Given the description of an element on the screen output the (x, y) to click on. 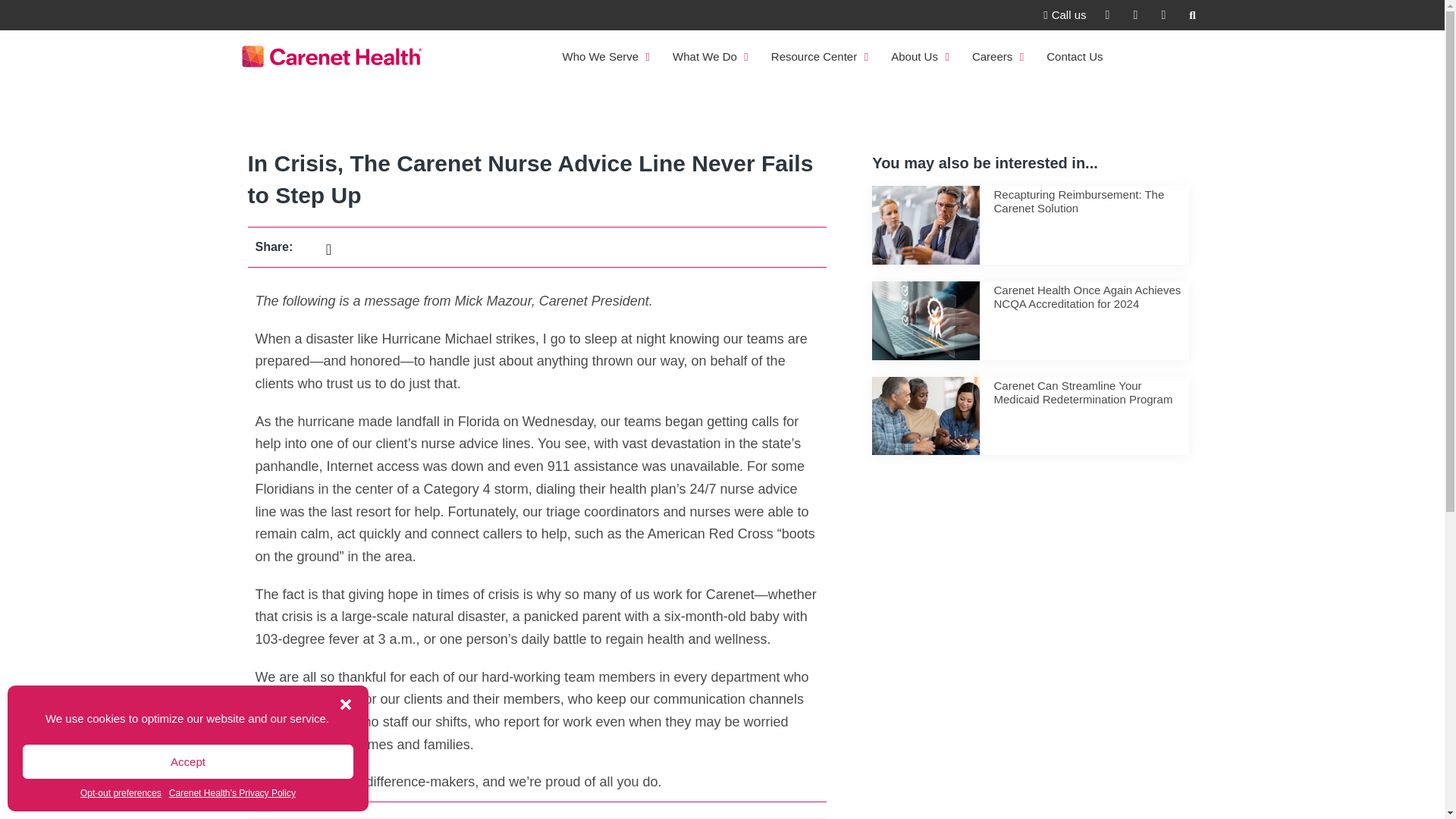
Accept (188, 761)
Opt-out preferences (120, 793)
Call us (1064, 15)
